Given the description of an element on the screen output the (x, y) to click on. 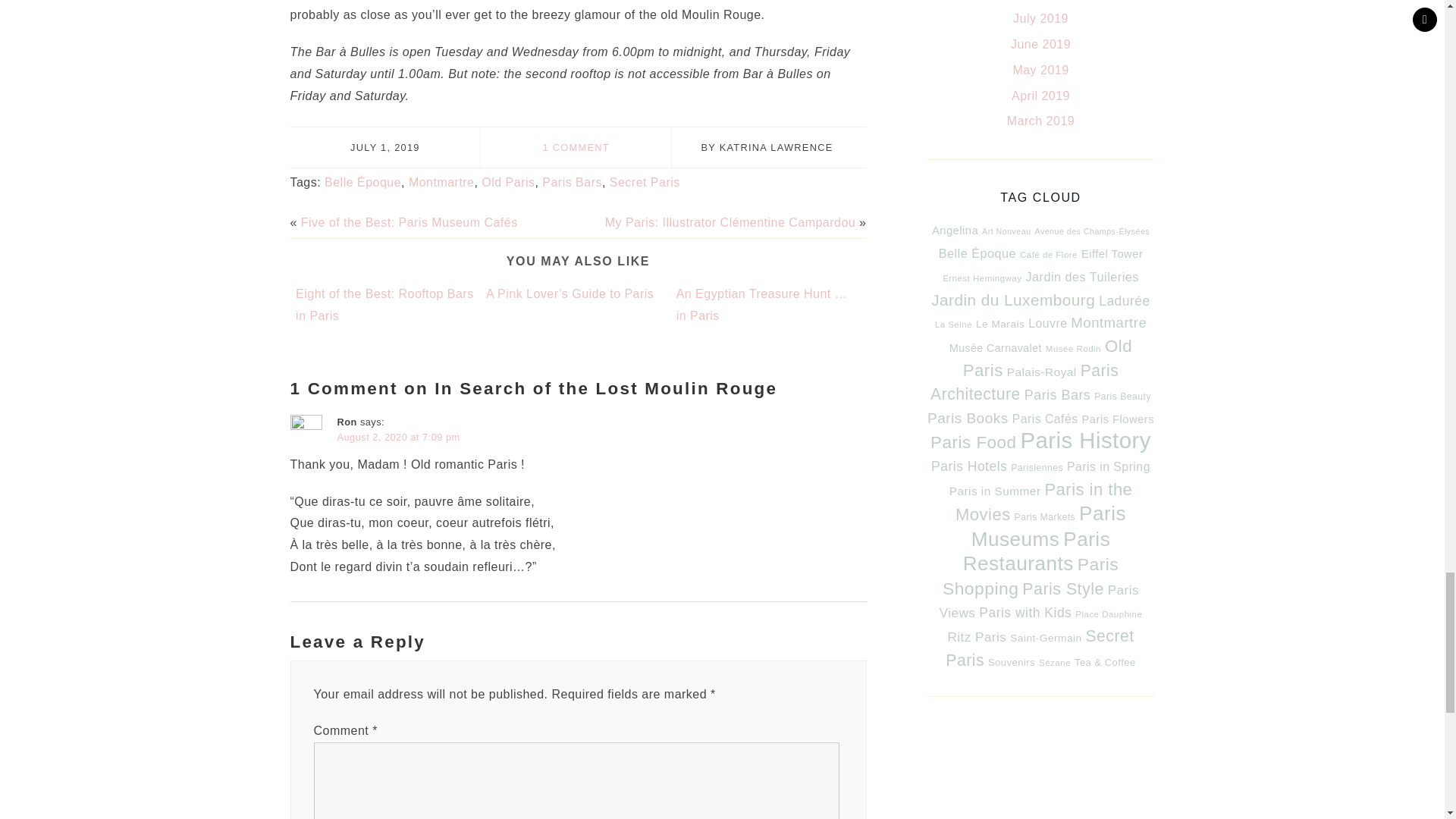
Old Paris (507, 182)
August 2, 2020 at 7:09 pm (398, 437)
Secret Paris (644, 182)
Montmartre (441, 182)
Paris Bars (571, 182)
1 COMMENT (576, 147)
Eight of the Best: Rooftop Bars in Paris (384, 304)
